Given the description of an element on the screen output the (x, y) to click on. 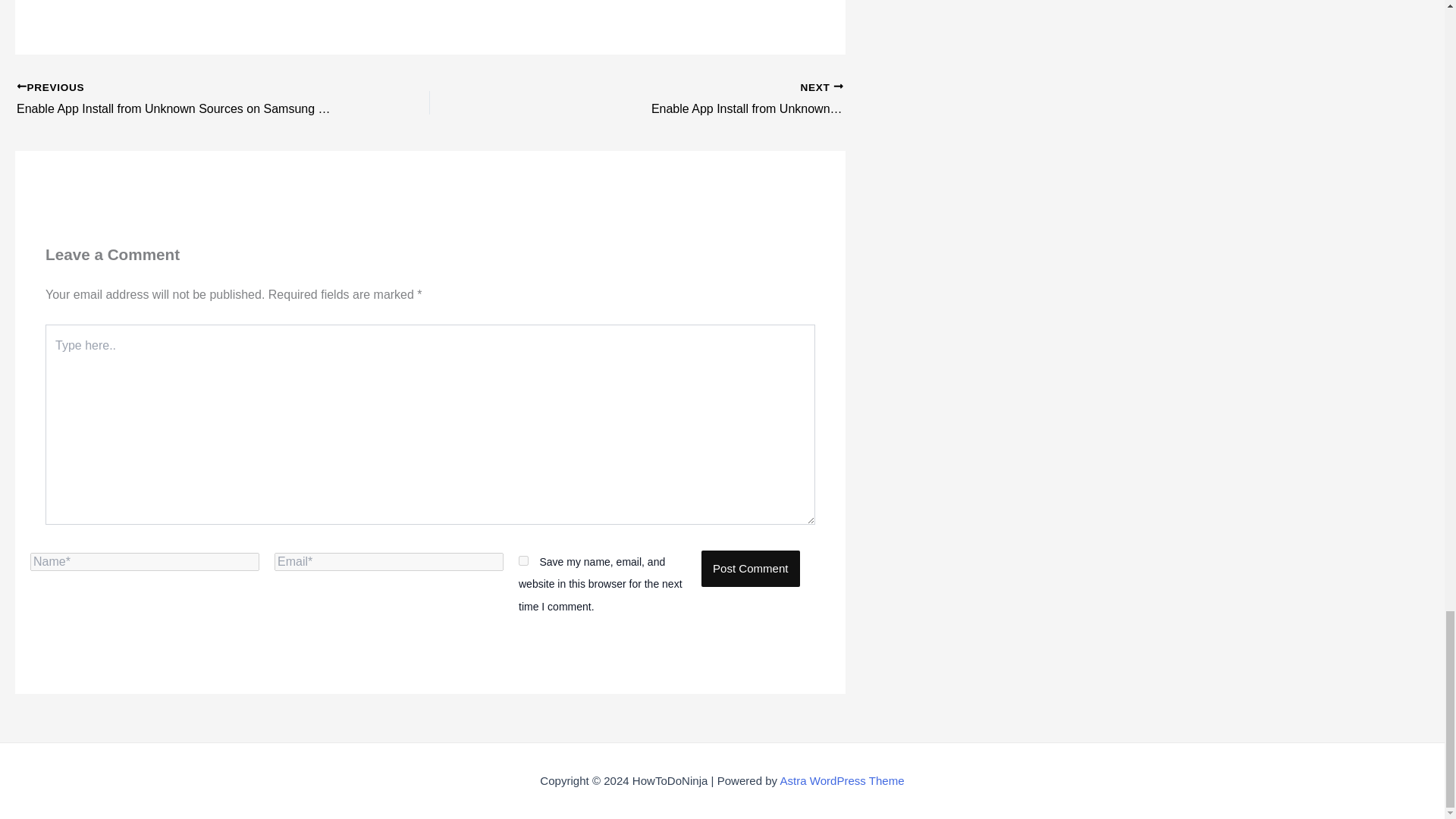
yes (523, 560)
Post Comment (750, 568)
